Given the description of an element on the screen output the (x, y) to click on. 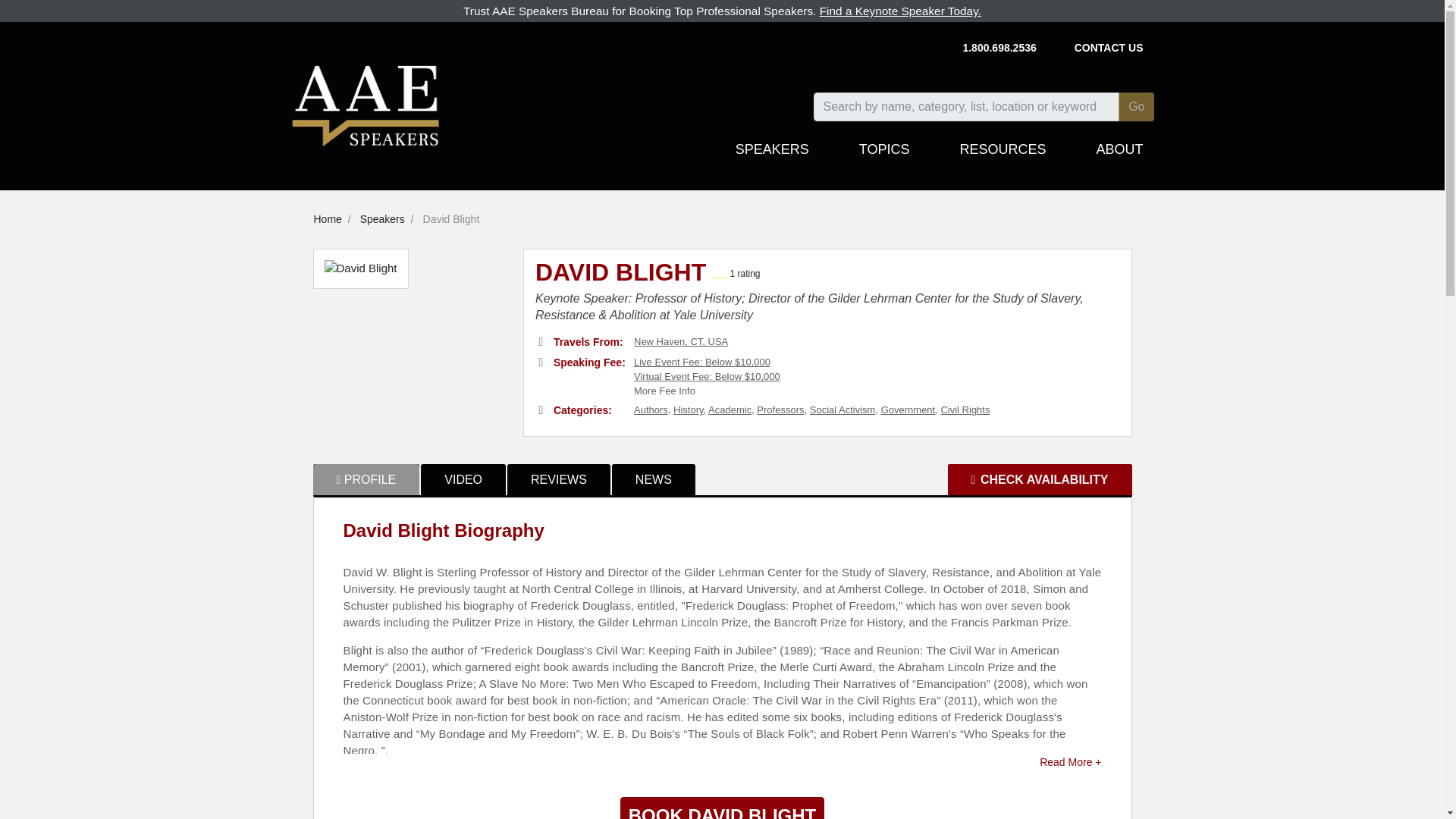
Authors (650, 409)
New Haven, CT, USA (680, 341)
CONTACT US (1108, 48)
RESOURCES (1002, 155)
Academic (729, 409)
Go (1136, 106)
TOPICS (884, 155)
History (687, 409)
Home (328, 218)
Find a Keynote Speaker Today. (900, 10)
